Given the description of an element on the screen output the (x, y) to click on. 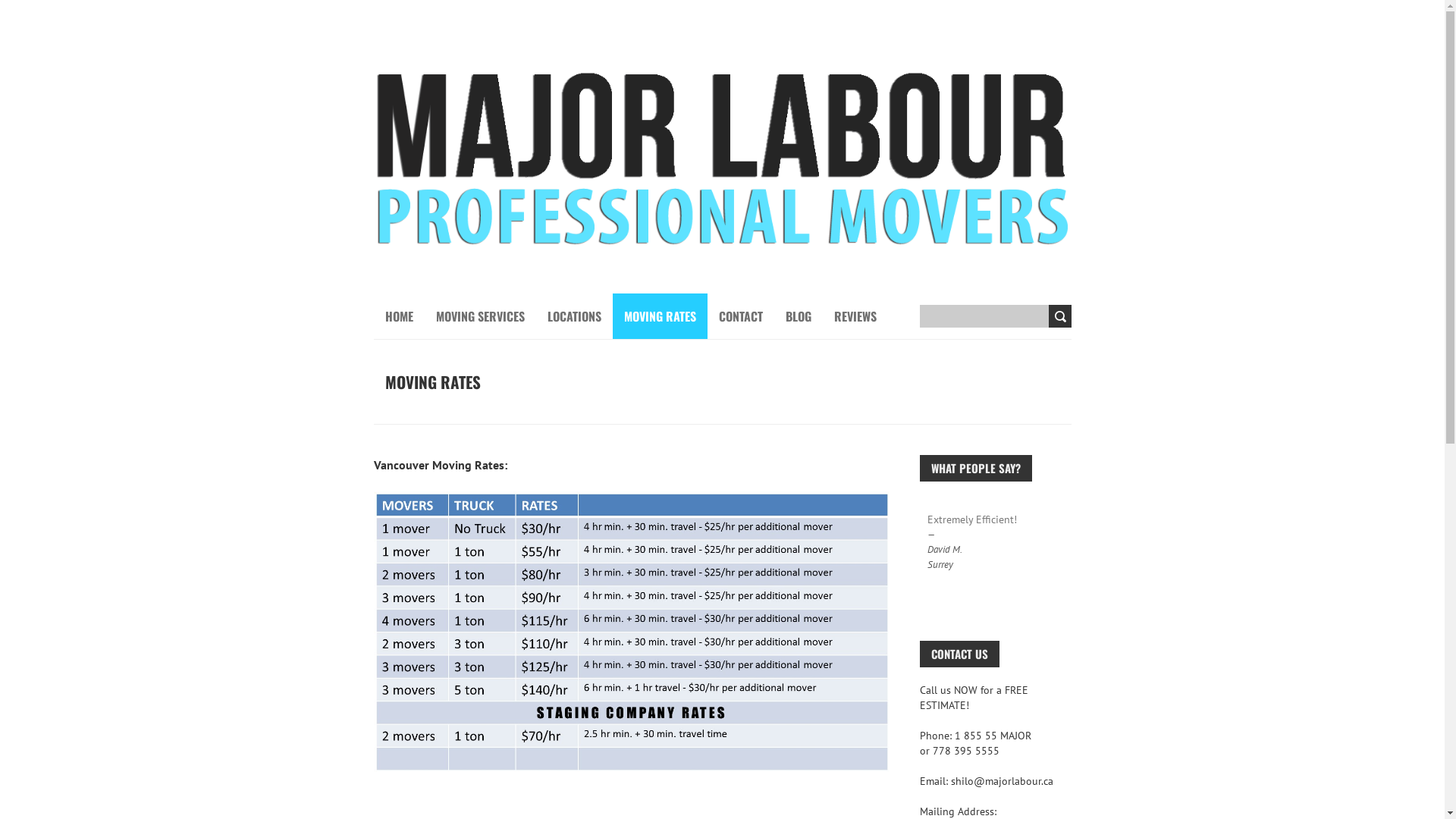
MOVING SERVICES Element type: text (479, 315)
REVIEWS Element type: text (855, 315)
HOME Element type: text (399, 315)
Search Element type: text (1059, 315)
CONTACT Element type: text (740, 315)
BLOG Element type: text (798, 315)
LOCATIONS Element type: text (574, 315)
MOVING RATES Element type: text (659, 315)
